Given the description of an element on the screen output the (x, y) to click on. 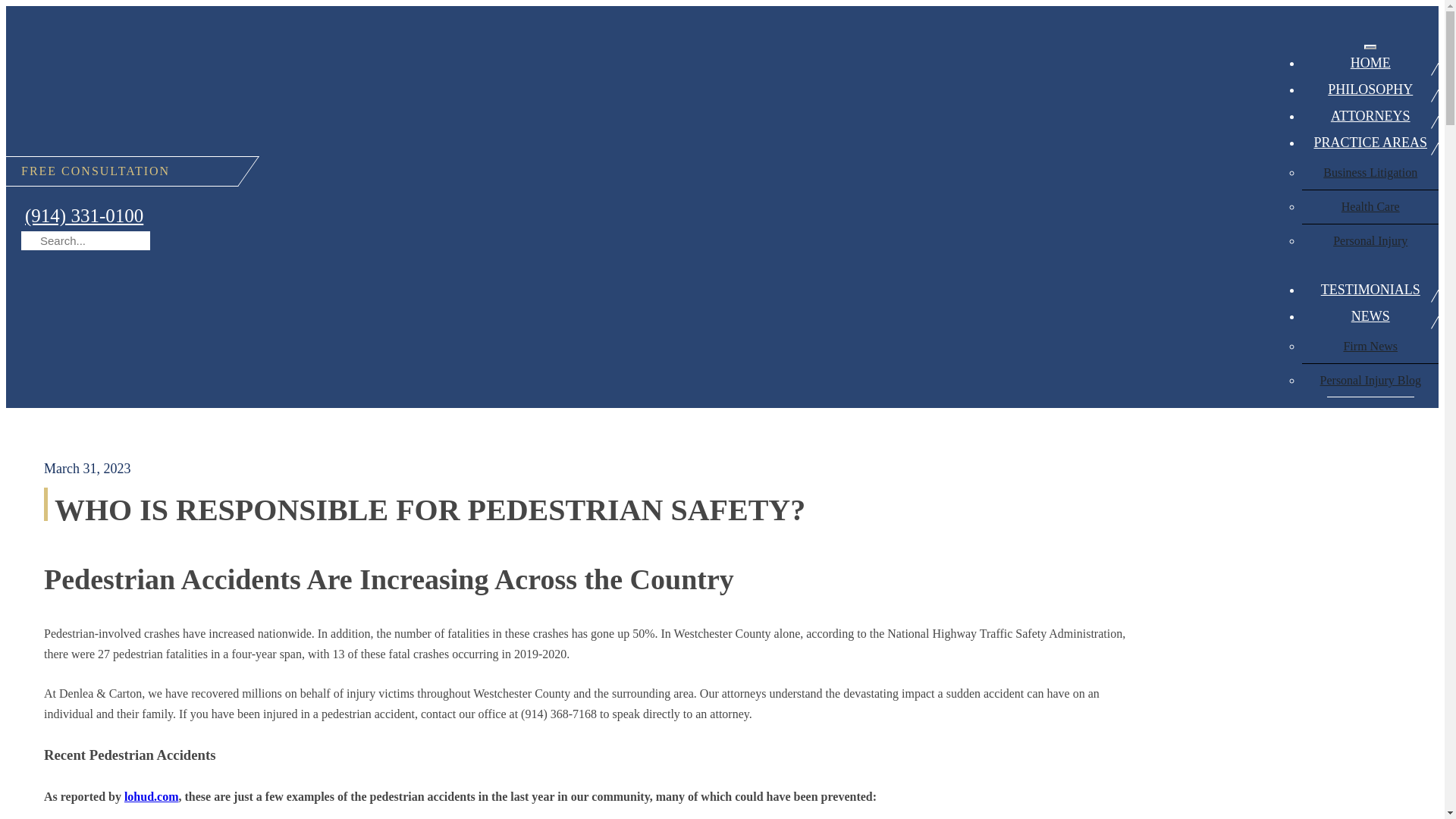
Home (1370, 62)
PHILOSOPHY (1369, 89)
lohud.com (151, 796)
Philosophy (1369, 89)
ATTORNEYS (1370, 116)
NEWS (1369, 316)
TESTIMONIALS (1369, 289)
News (1369, 316)
HOME (1370, 62)
Testimonials (1369, 289)
